Given the description of an element on the screen output the (x, y) to click on. 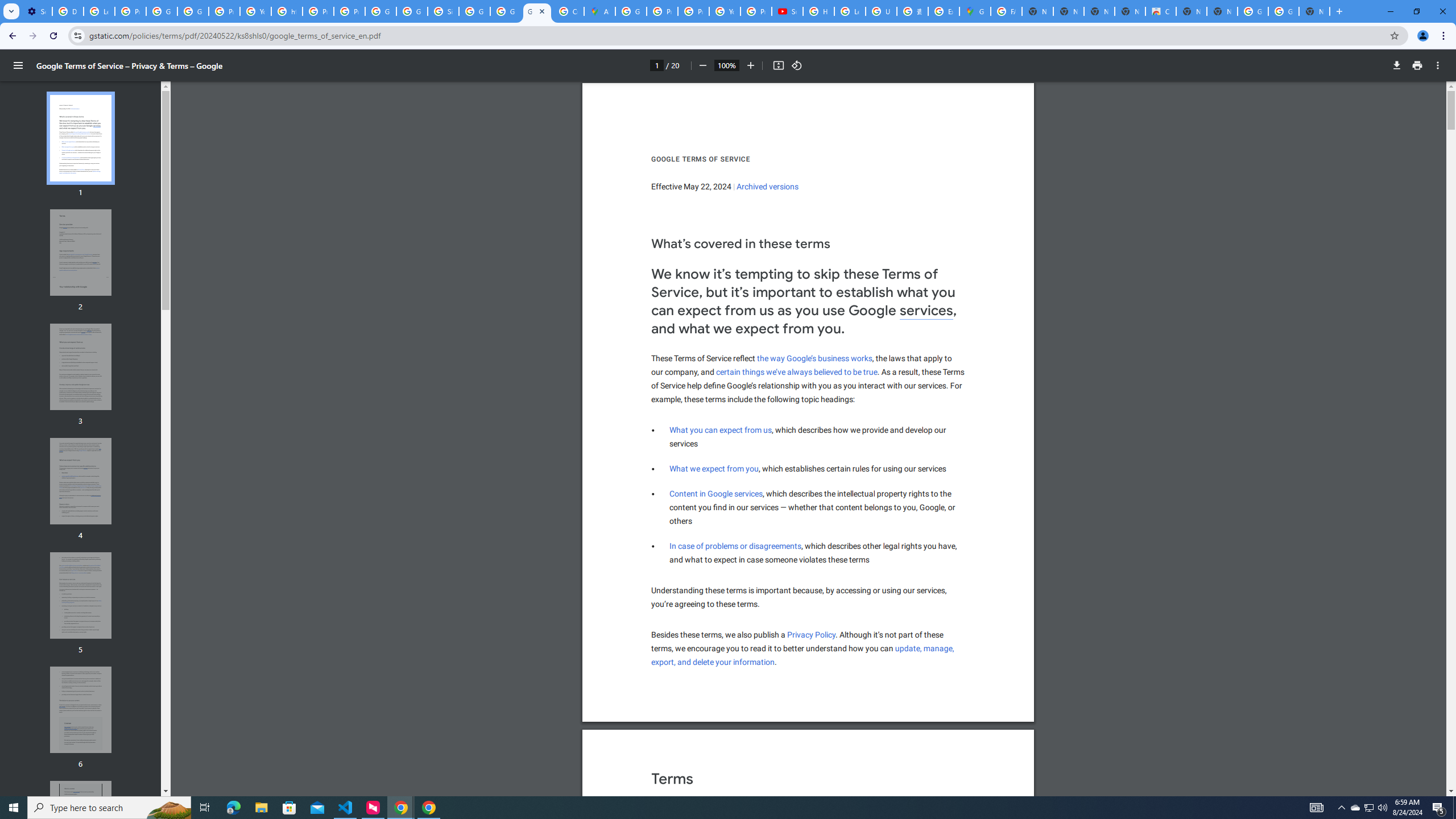
Rotate counterclockwise (796, 65)
Zoom out (702, 65)
How Chrome protects your passwords - Google Chrome Help (818, 11)
YouTube (255, 11)
Settings - On startup (36, 11)
Thumbnail for page 6 (80, 709)
Google Images (1252, 11)
Print (1416, 65)
Google Maps (974, 11)
Privacy Help Center - Policies Help (662, 11)
Google Account Help (161, 11)
